Given the description of an element on the screen output the (x, y) to click on. 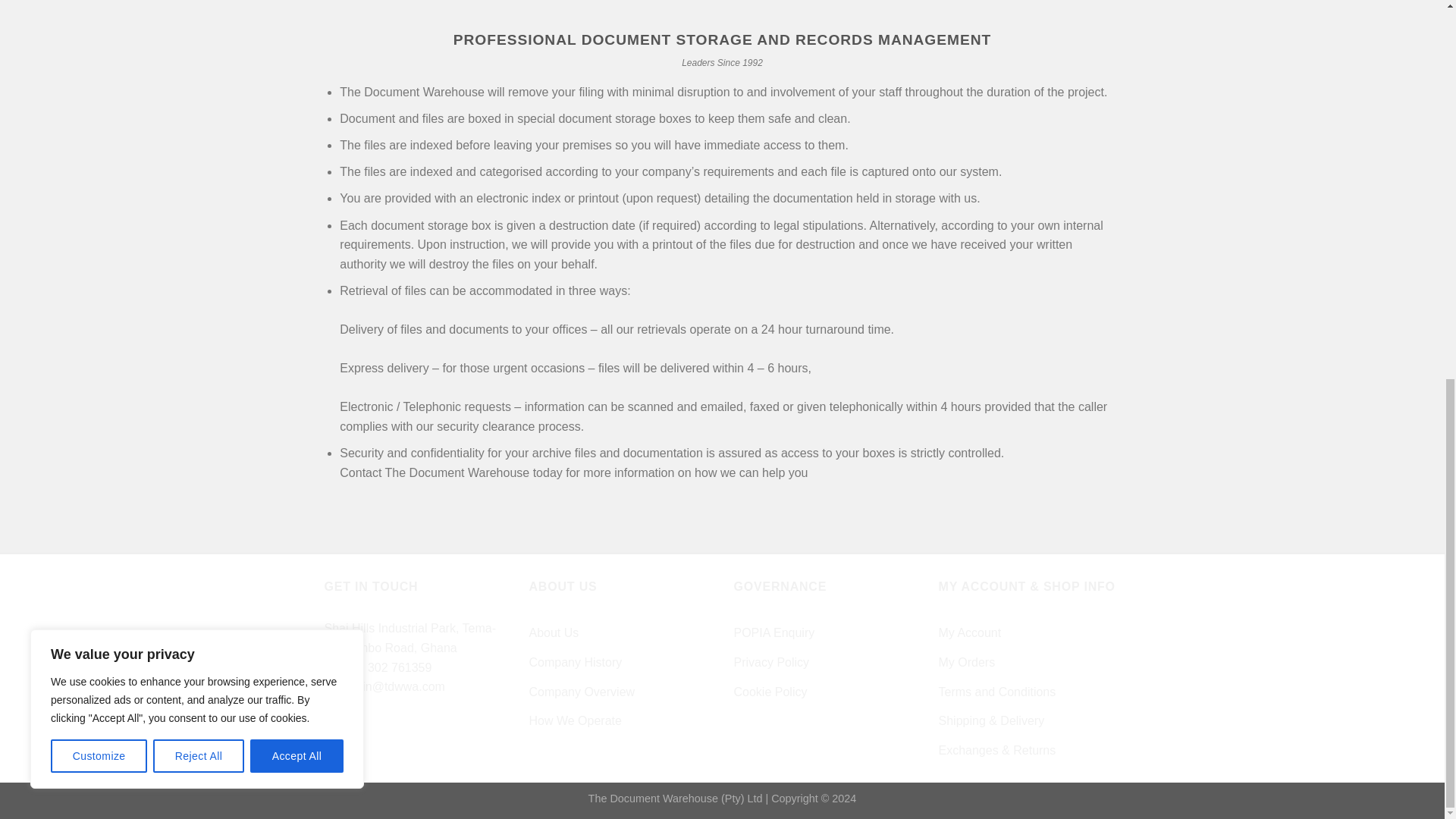
Customize (98, 52)
Accept All (296, 52)
Reject All (198, 52)
